Given the description of an element on the screen output the (x, y) to click on. 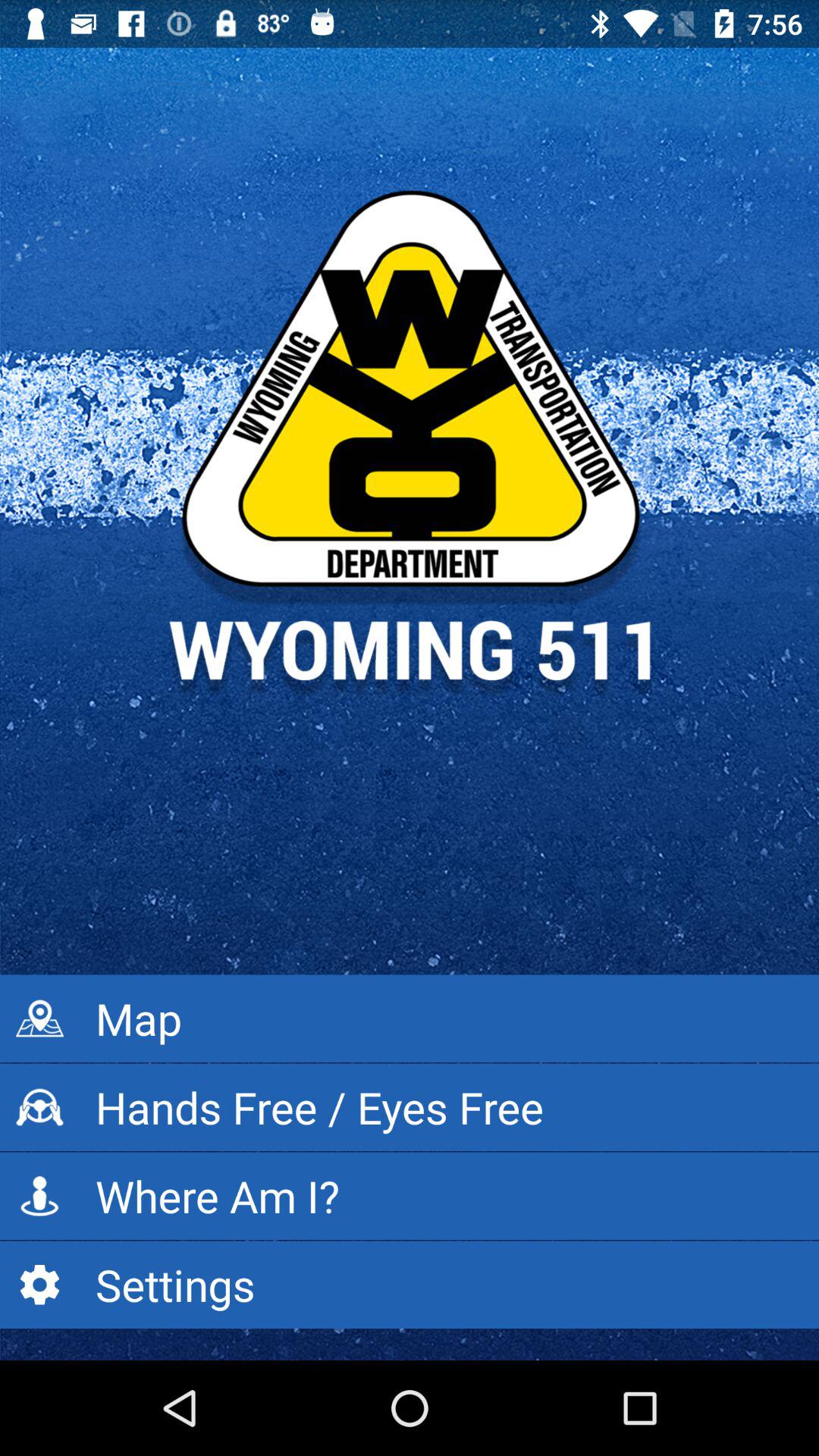
scroll until hands free eyes app (409, 1107)
